Given the description of an element on the screen output the (x, y) to click on. 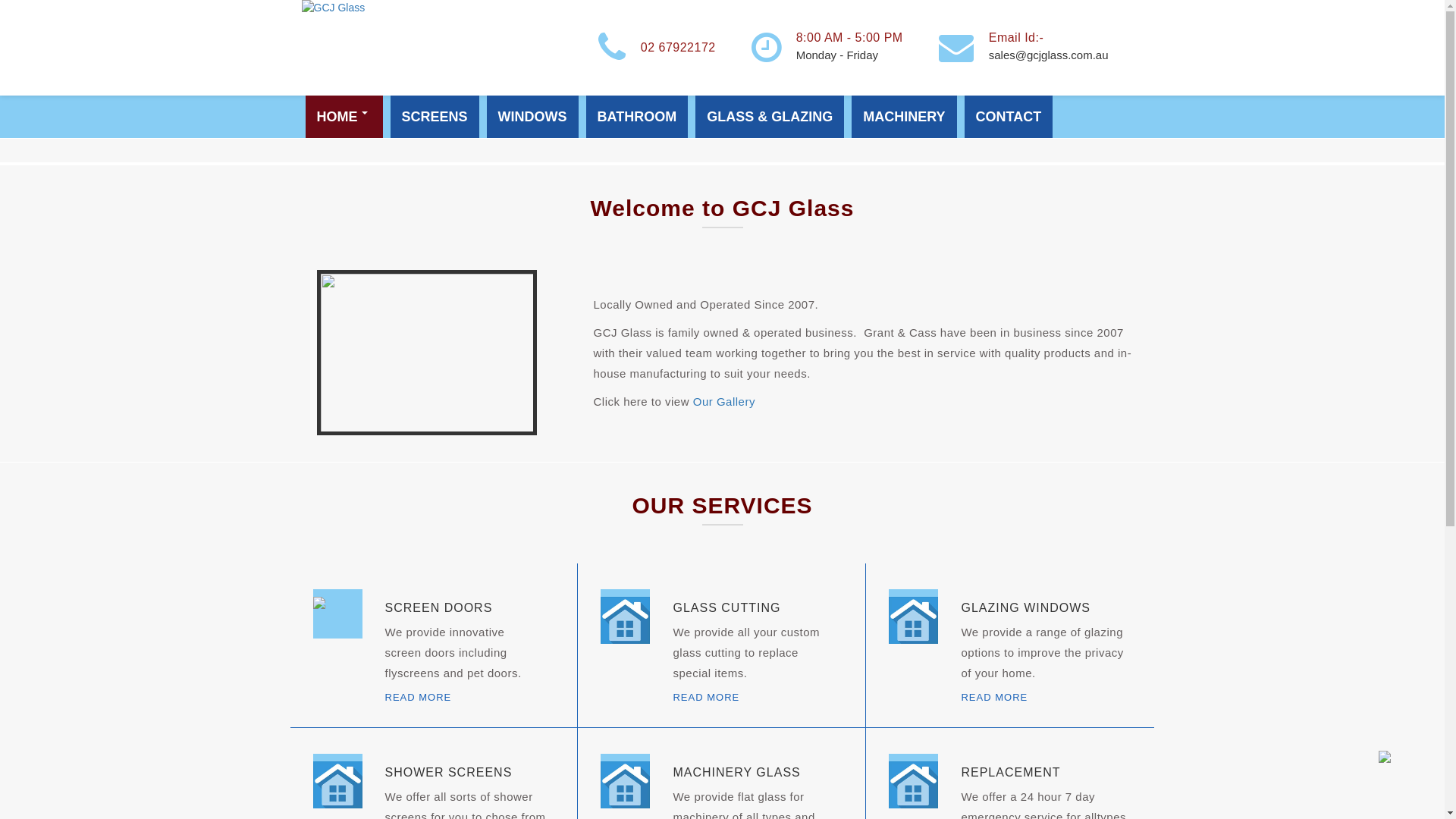
SHOWER SCREENS Element type: text (448, 771)
MACHINERY Element type: text (903, 116)
sales@gcjglass.com.au Element type: text (1048, 54)
Our Gallery Element type: text (724, 401)
CONTACT Element type: text (1008, 116)
GLAZING WINDOWS Element type: text (1025, 607)
READ MORE Element type: text (705, 697)
READ MORE Element type: text (993, 697)
SCREEN DOORS Element type: text (438, 607)
MACHINERY GLASS Element type: text (736, 771)
GLASS CUTTING Element type: text (726, 607)
GCJ Glass Element type: hover (333, 6)
SCREENS Element type: text (433, 116)
BATHROOM Element type: text (637, 116)
READ MORE Element type: text (418, 697)
REPLACEMENT Element type: text (1010, 771)
HOME Element type: text (343, 116)
GLASS & GLAZING Element type: text (769, 116)
WINDOWS Element type: text (532, 116)
